Given the description of an element on the screen output the (x, y) to click on. 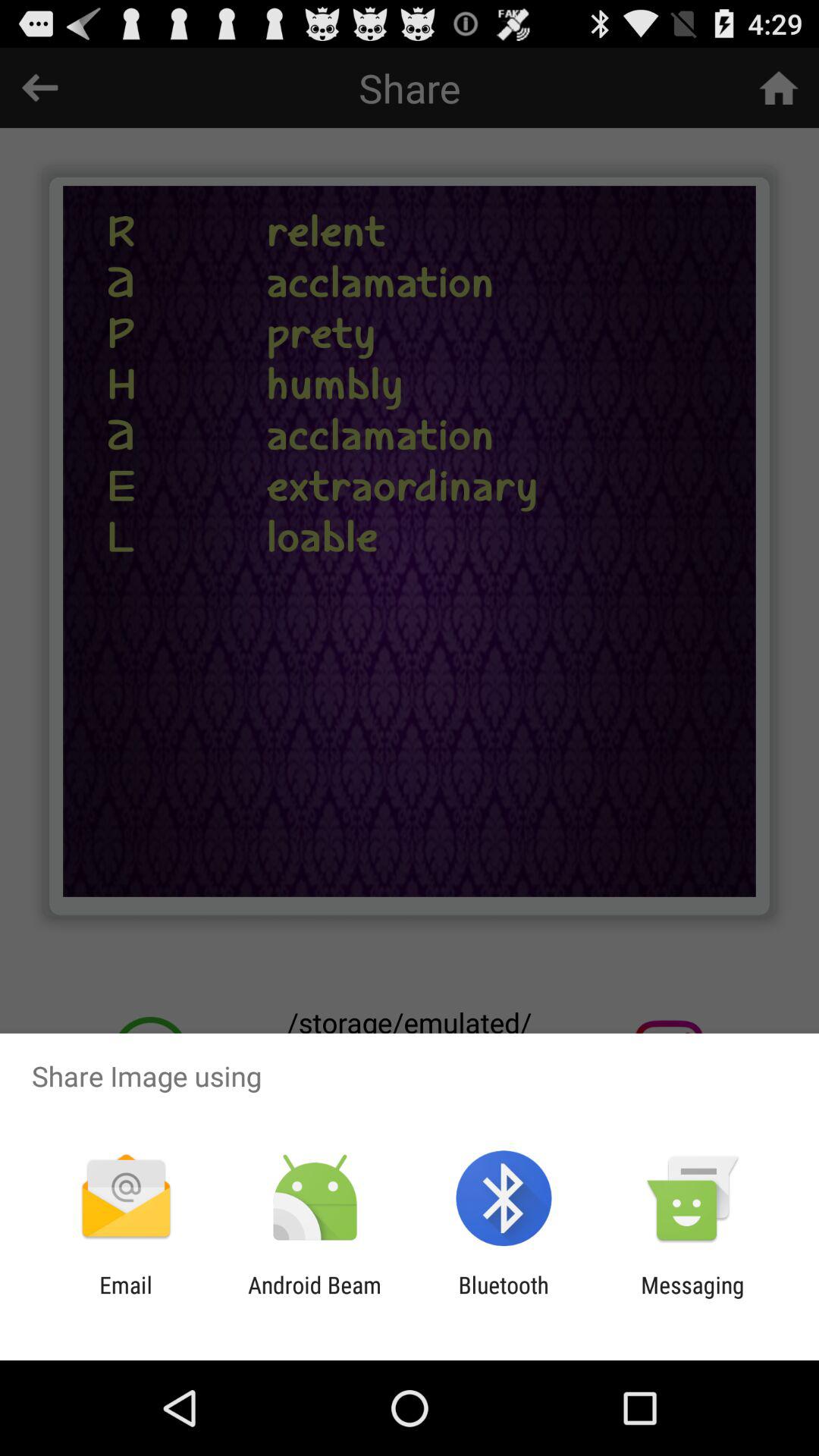
click item next to the messaging item (503, 1298)
